Given the description of an element on the screen output the (x, y) to click on. 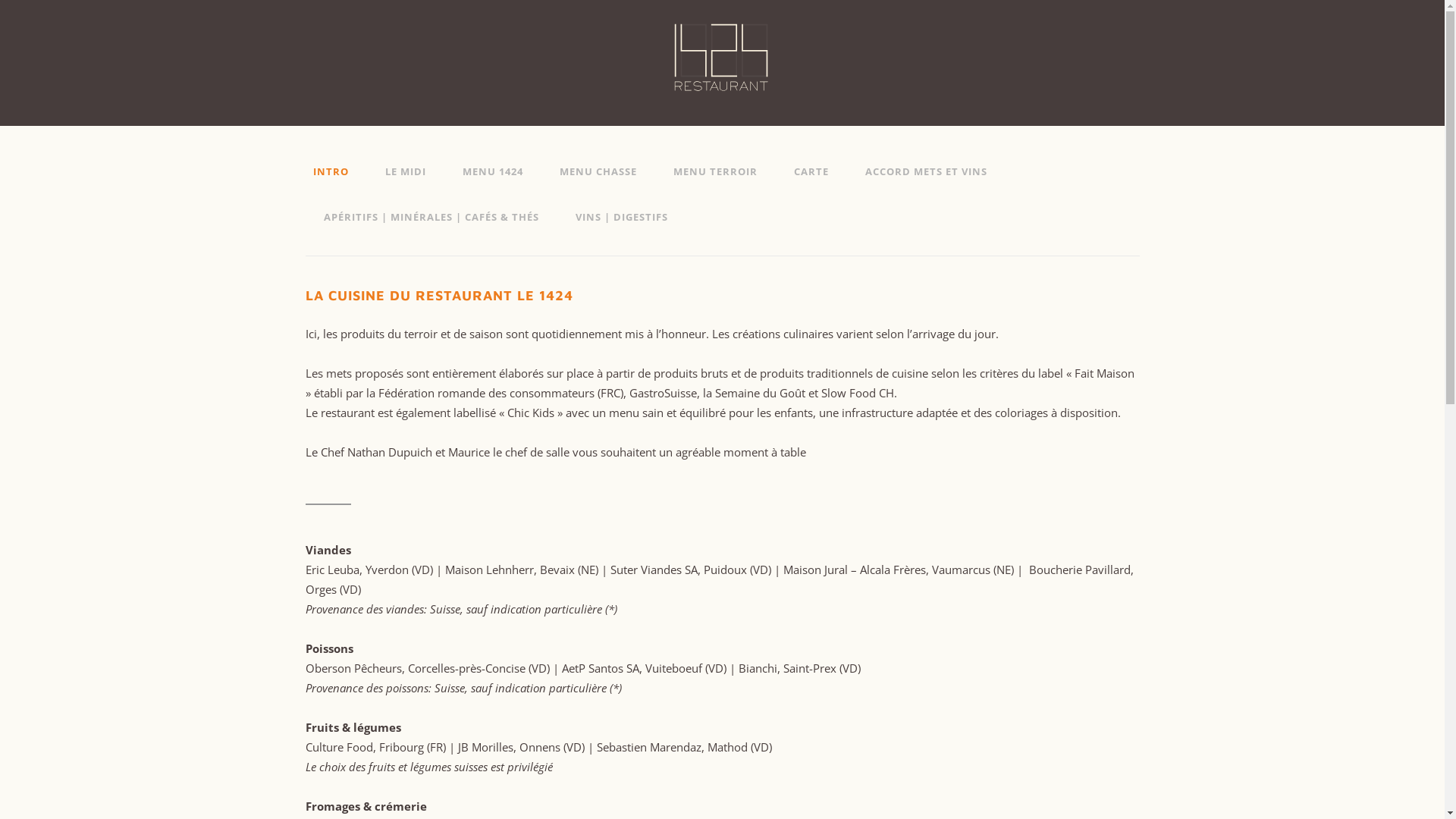
LE MIDI Element type: text (405, 171)
CARTE Element type: text (810, 171)
VINS | DIGESTIFS Element type: text (620, 216)
INTRO Element type: text (335, 171)
MENU 1424 Element type: text (492, 171)
ACCORD METS ET VINS Element type: text (925, 171)
MENU TERROIR Element type: text (715, 171)
MENU CHASSE Element type: text (598, 171)
